Given the description of an element on the screen output the (x, y) to click on. 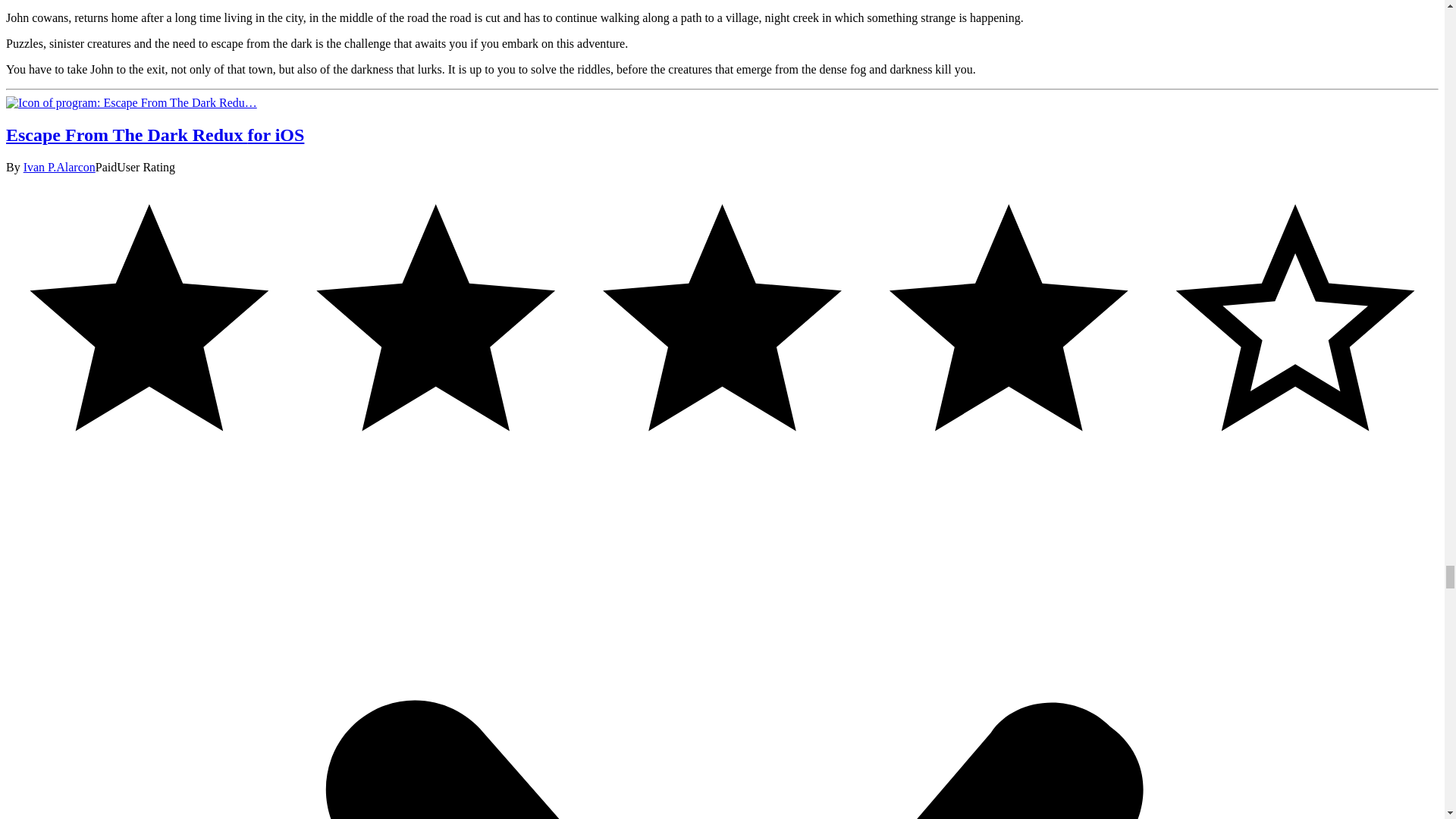
Escape From The Dark Redux for iOS (131, 102)
